Given the description of an element on the screen output the (x, y) to click on. 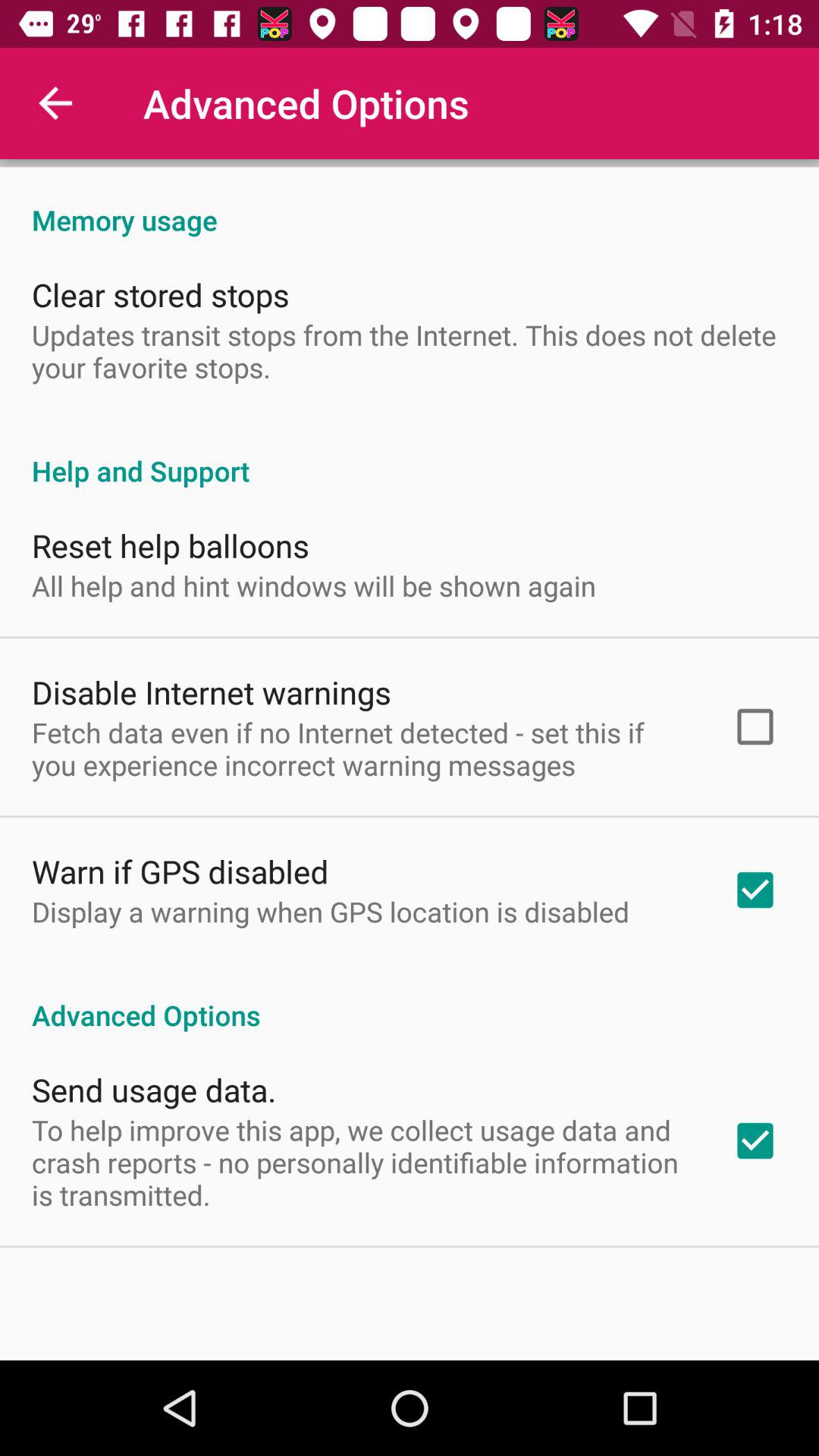
go back (55, 103)
